Given the description of an element on the screen output the (x, y) to click on. 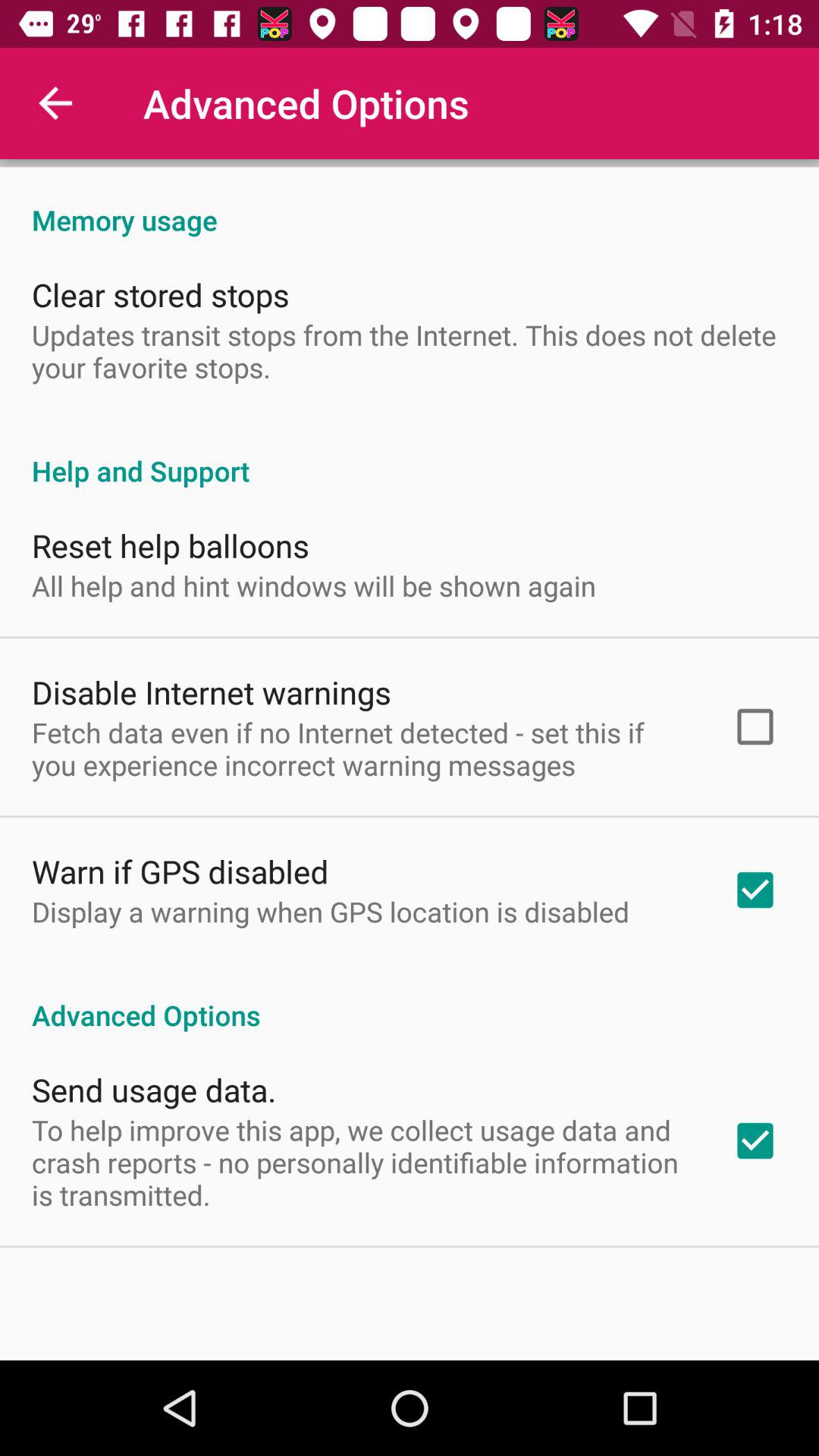
go back (55, 103)
